Given the description of an element on the screen output the (x, y) to click on. 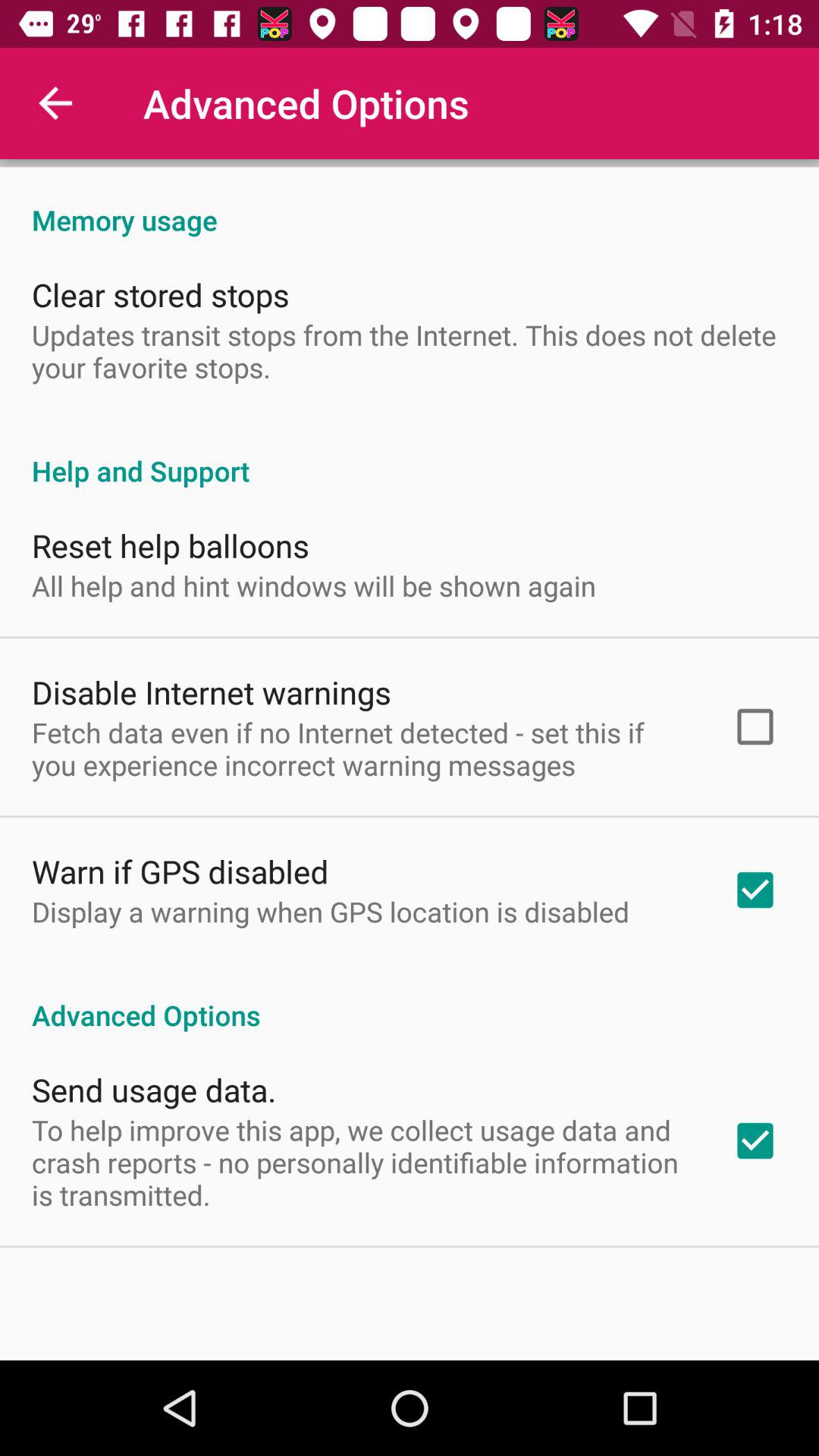
go back (55, 103)
